Given the description of an element on the screen output the (x, y) to click on. 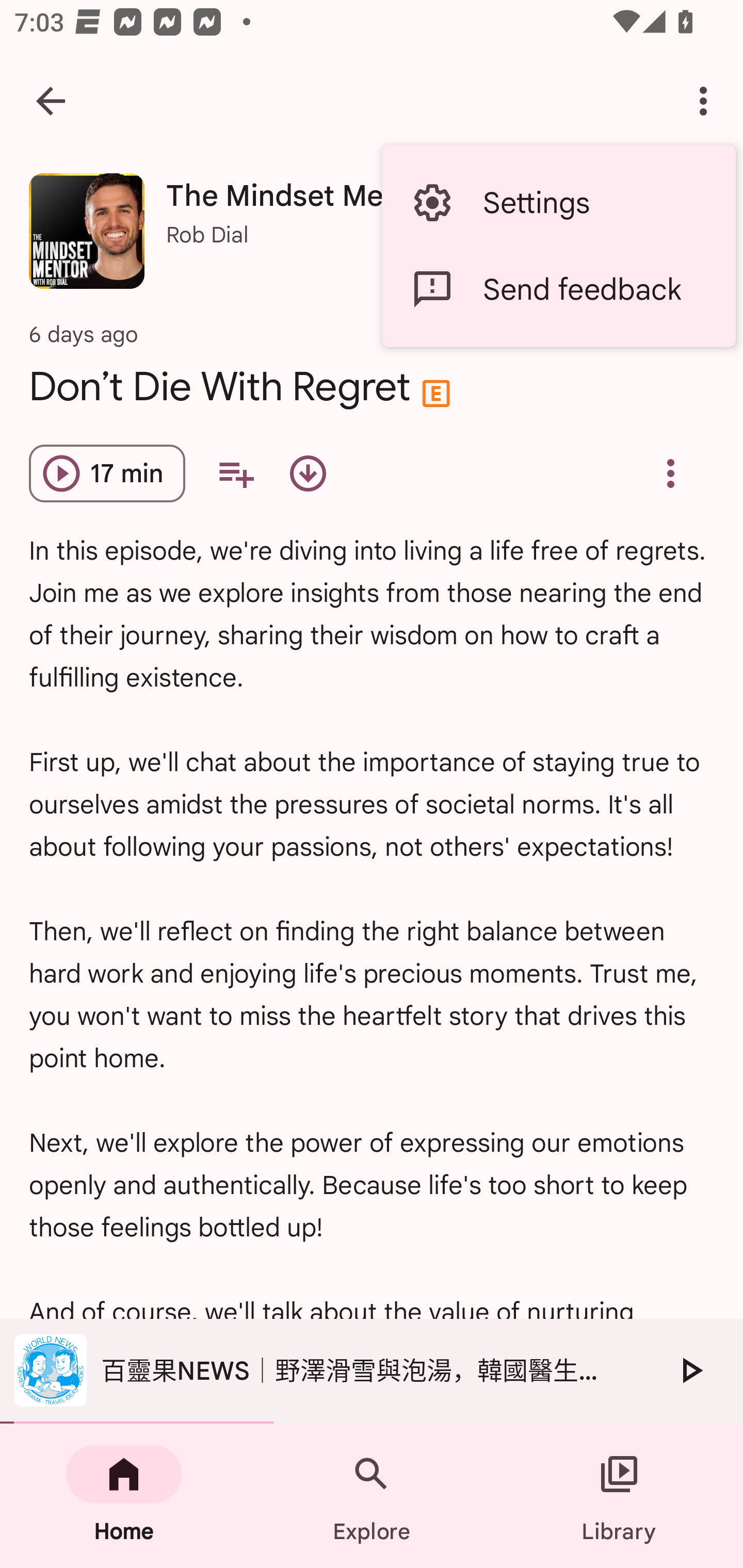
Settings (558, 202)
Send feedback (558, 289)
